Given the description of an element on the screen output the (x, y) to click on. 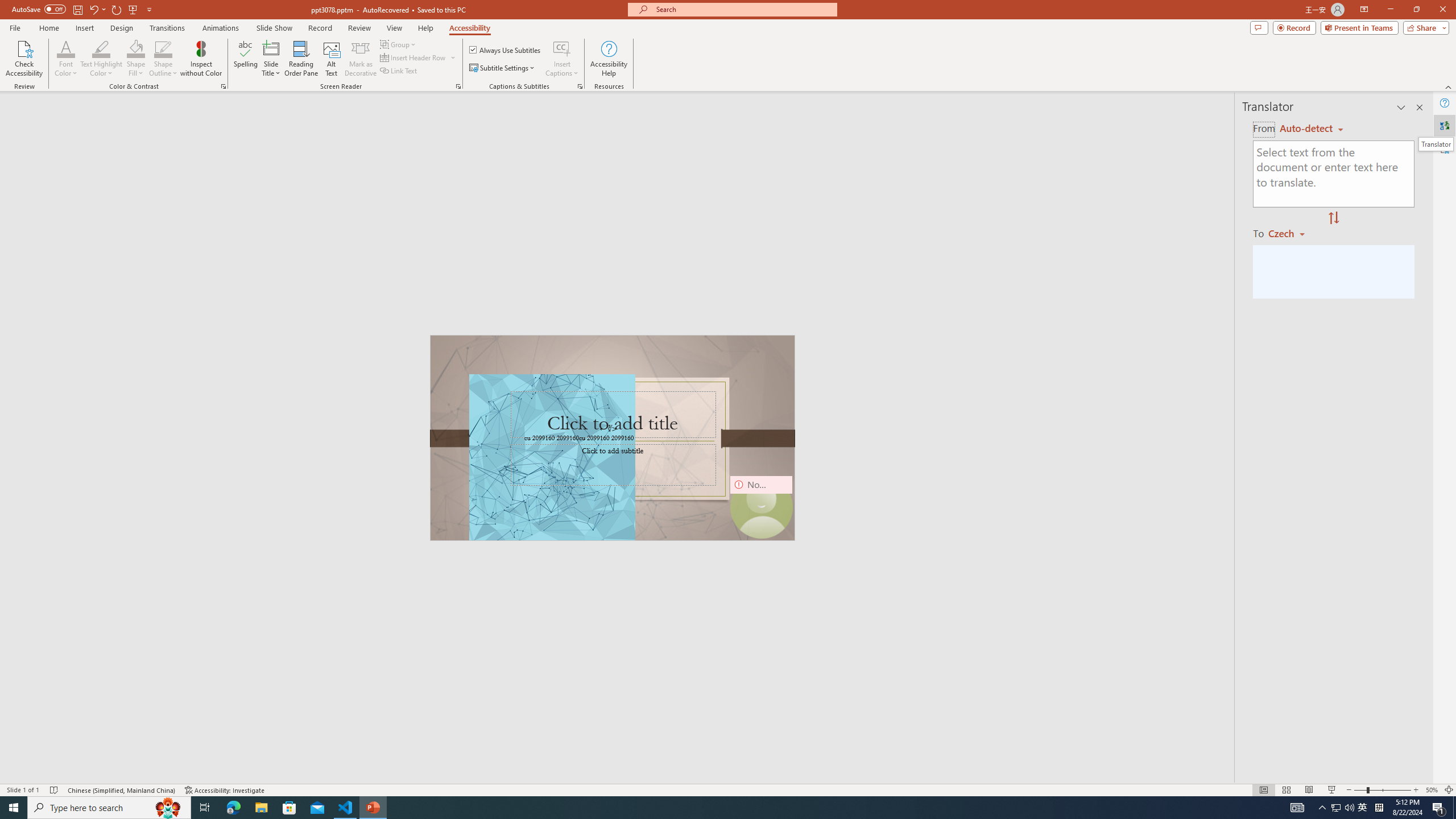
Subtitle TextBox (613, 464)
Screen Reader (458, 85)
Accessibility Help (608, 58)
Accessibility Checker Accessibility: Investigate (224, 790)
Reading Order Pane (301, 58)
Zoom 50% (1431, 790)
